Given the description of an element on the screen output the (x, y) to click on. 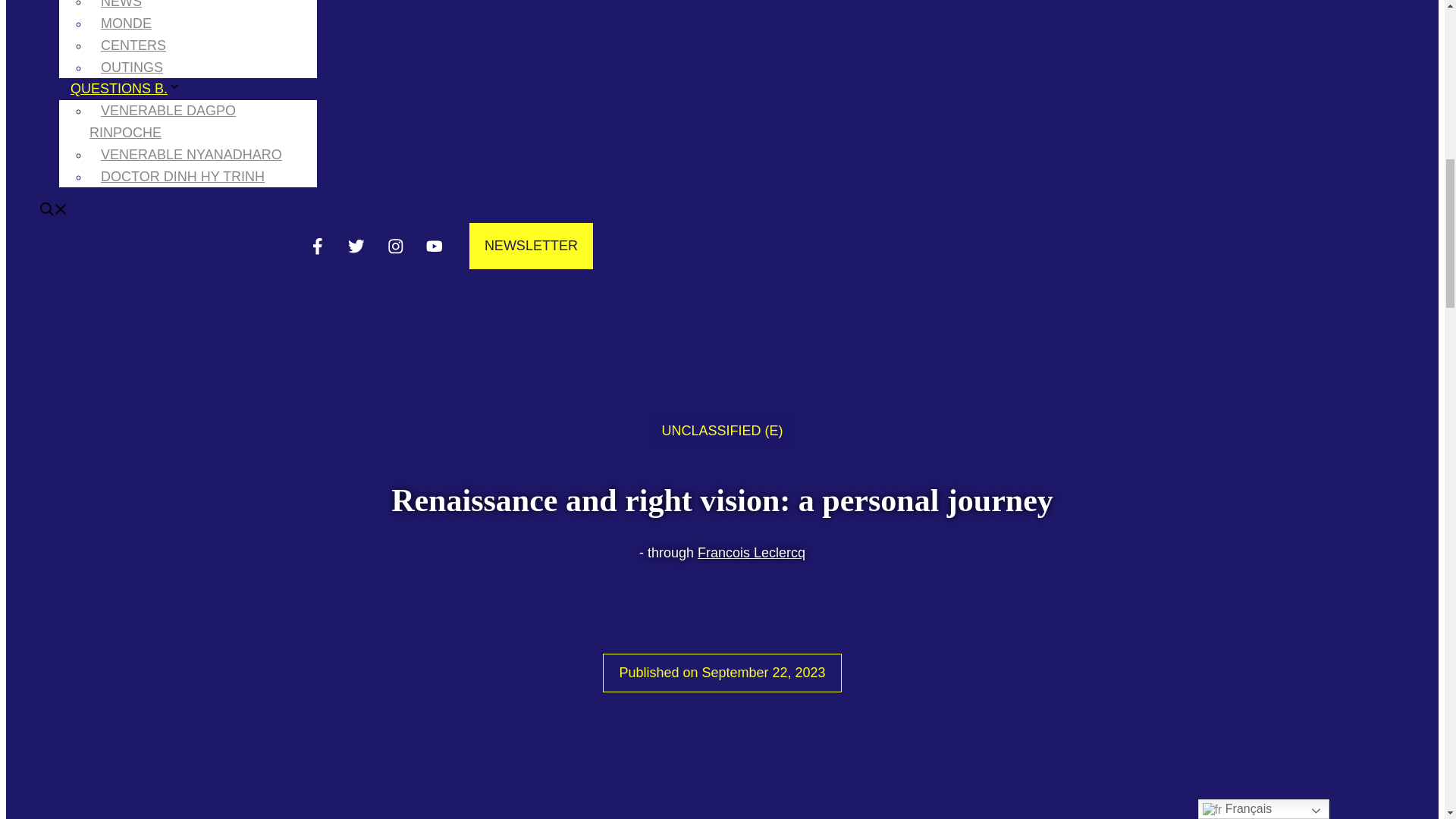
MONDE (125, 22)
QUESTIONS B. (131, 88)
VENERABLE DAGPO RINPOCHE (161, 121)
DOCTOR DINH HY TRINH (182, 176)
VENERABLE NYANADHARO (191, 154)
OUTINGS (131, 67)
CENTERS (132, 44)
NEWS (120, 12)
